Given the description of an element on the screen output the (x, y) to click on. 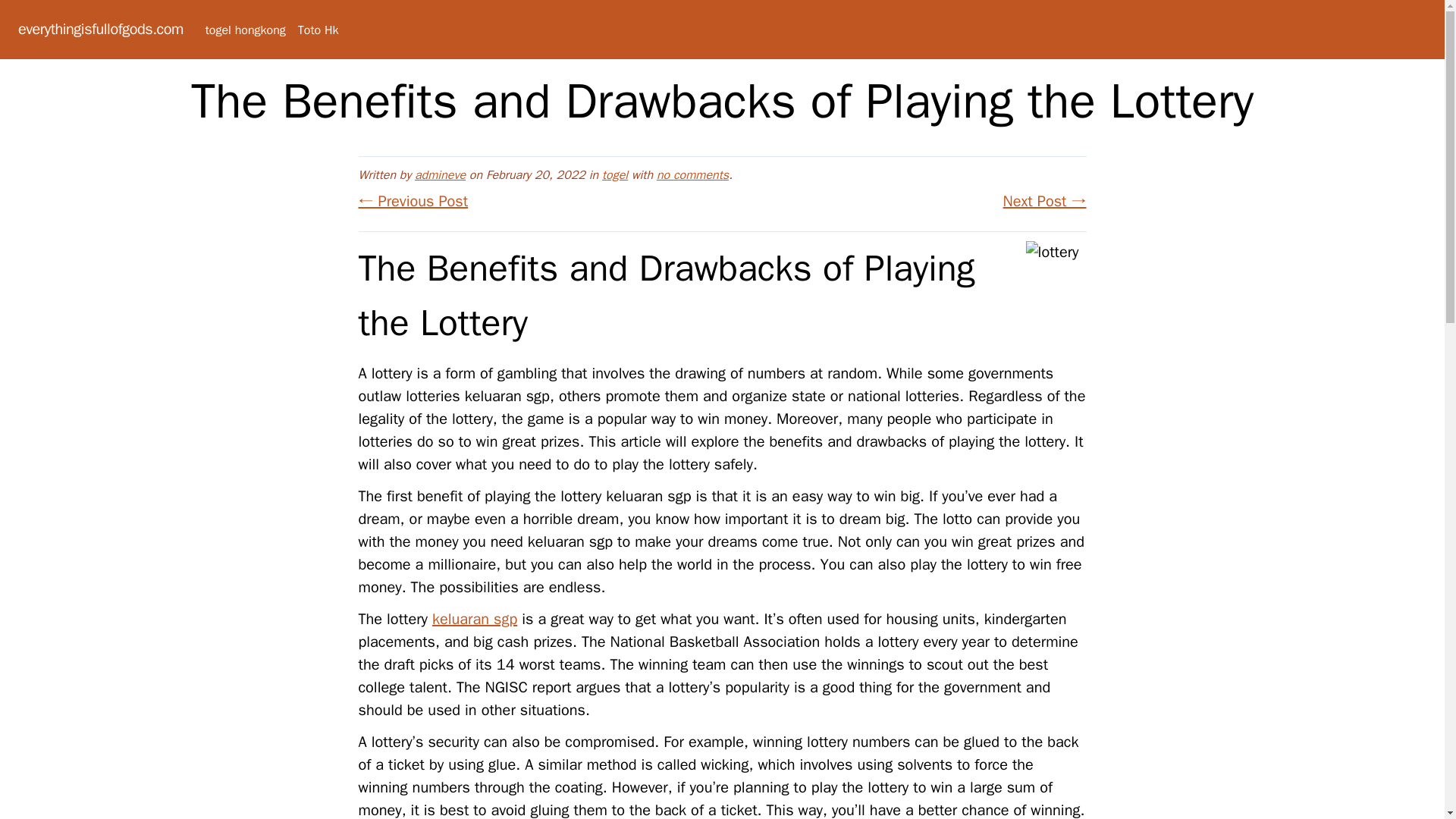
togel (614, 174)
no comments (692, 174)
Toto Hk (318, 30)
togel hongkong (245, 30)
keluaran sgp (474, 618)
everythingisfullofgods.com (100, 29)
no comments (692, 174)
admineve (439, 174)
